Given the description of an element on the screen output the (x, y) to click on. 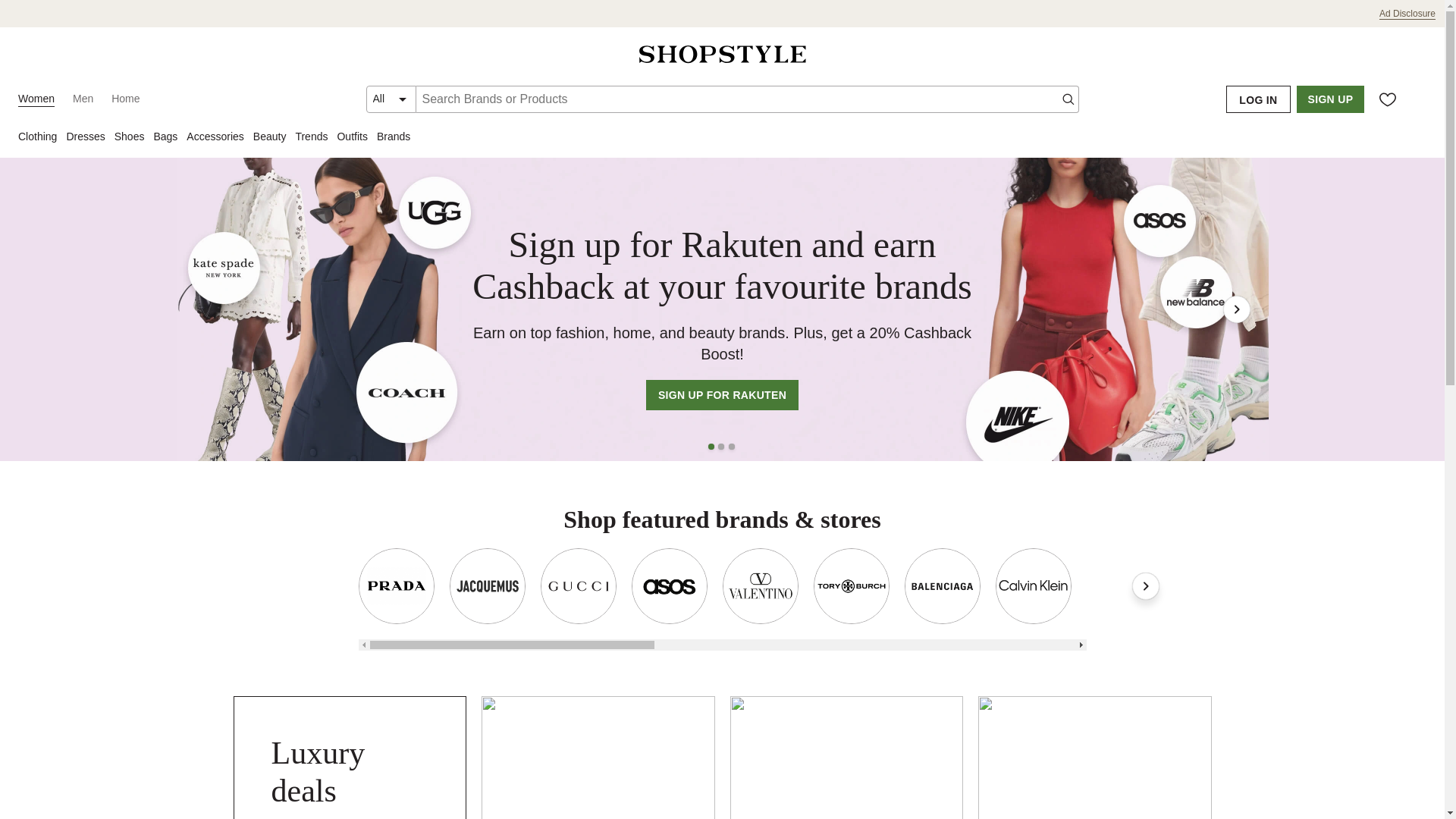
Ad Disclosure (1406, 13)
Beauty (274, 137)
Dresses (89, 137)
Outfits (355, 137)
Brands (398, 137)
My Favorites (1387, 99)
LOG IN (1257, 99)
SIGN UP (1330, 99)
Global search input (746, 99)
Trends (315, 137)
Locale Picker (1418, 99)
Select a category (390, 99)
Women (36, 98)
Clothing (41, 137)
Home (125, 98)
